Given the description of an element on the screen output the (x, y) to click on. 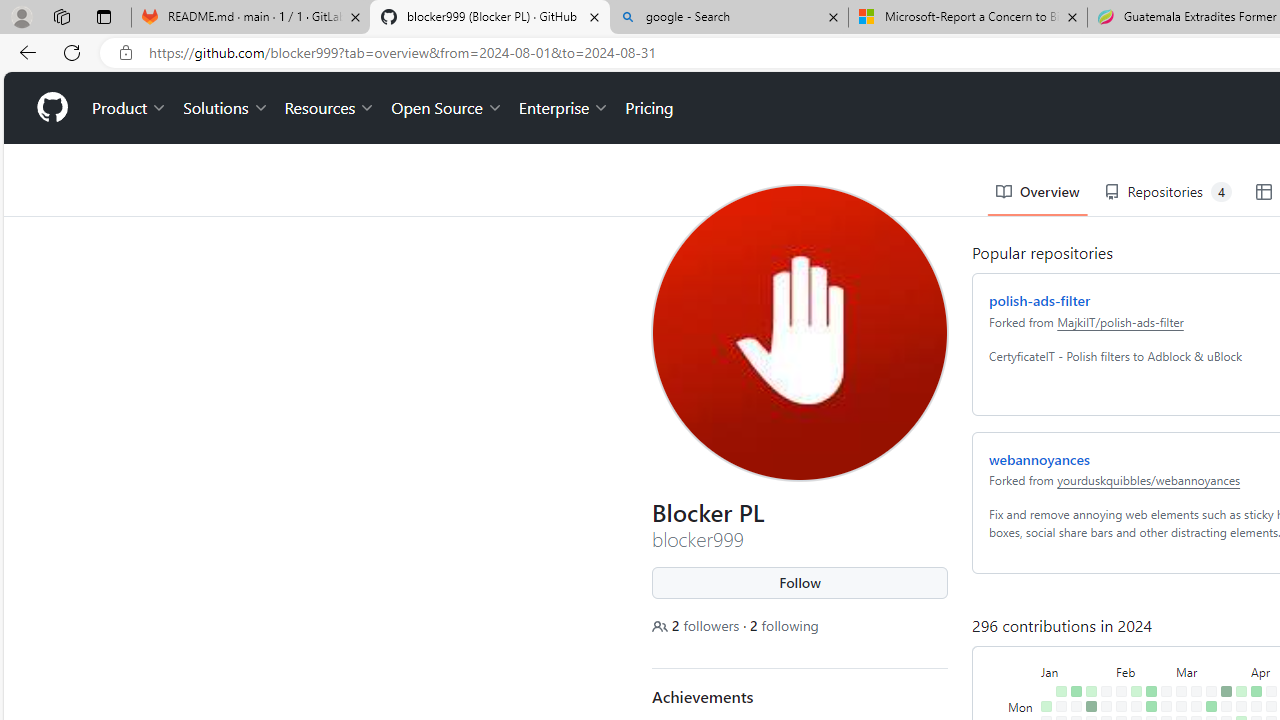
No contributions on April 16th. (1267, 649)
Open Source (442, 35)
Follow (795, 511)
No contributions on April 11th. (1252, 678)
No contributions on April 15th. (1267, 634)
Pricing (645, 35)
No contributions on March 3rd. (1177, 619)
No contributions on April 9th. (1252, 649)
Search icon (125, 53)
yourduskquibbles/webannoyances (1144, 408)
Friday (1017, 694)
Achievement: Quickdraw (679, 677)
March (1207, 598)
February (1139, 598)
1 contribution on April 2nd. (1236, 649)
